Given the description of an element on the screen output the (x, y) to click on. 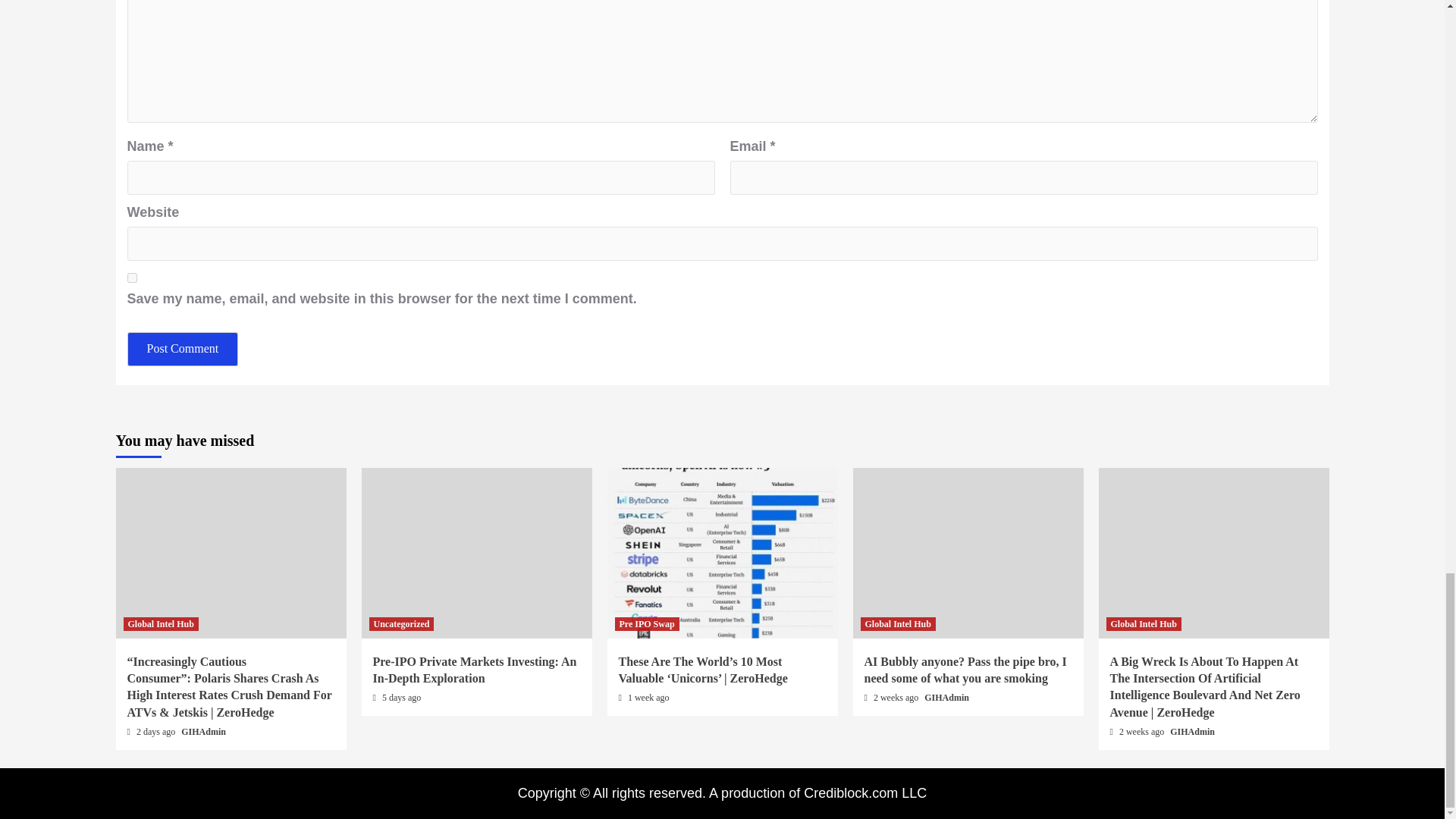
Post Comment (183, 349)
yes (132, 277)
